Given the description of an element on the screen output the (x, y) to click on. 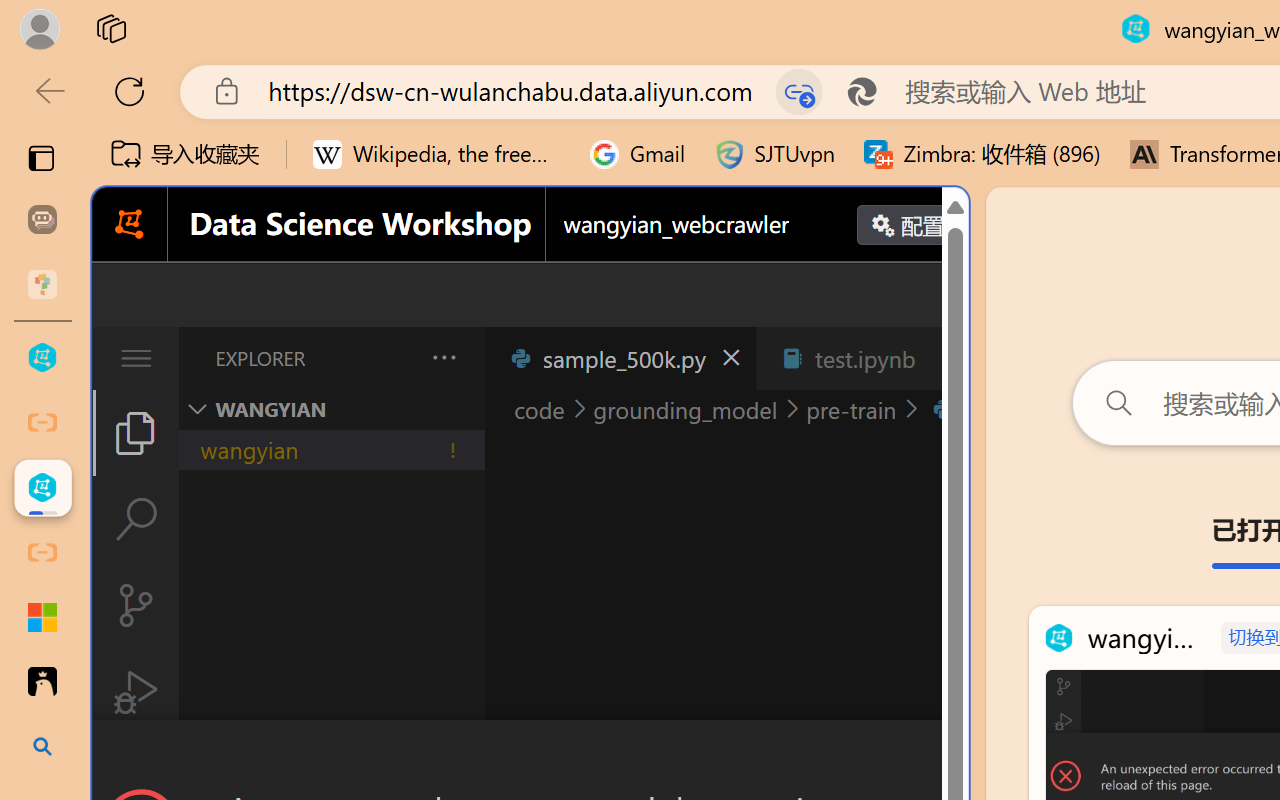
Source Control (Ctrl+Shift+G) (135, 604)
Explorer actions (391, 358)
Run and Debug (Ctrl+Shift+D) (135, 692)
Wikipedia, the free encyclopedia (437, 154)
Explorer Section: wangyian (331, 409)
